Given the description of an element on the screen output the (x, y) to click on. 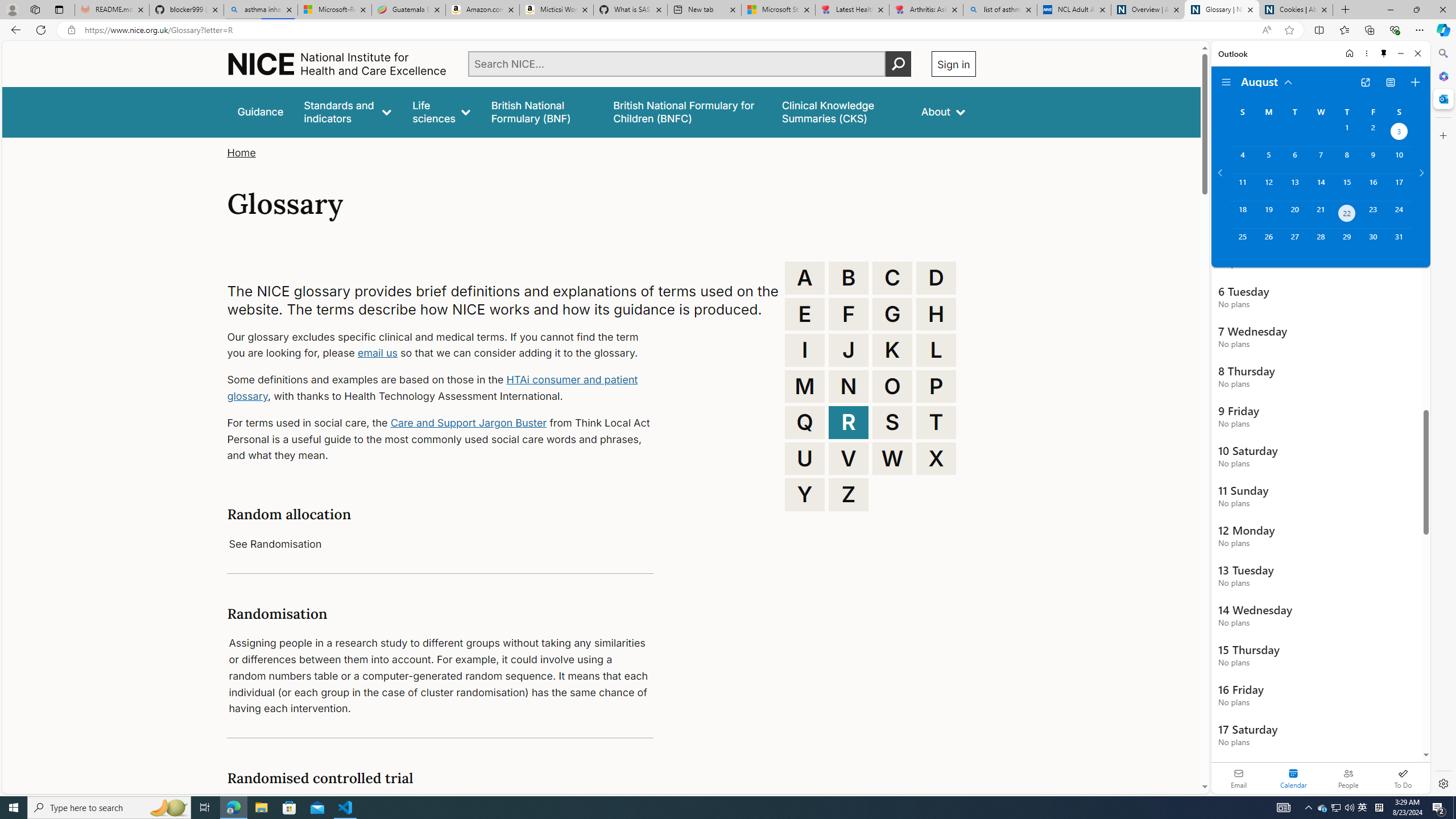
Guidance (260, 111)
I (804, 350)
Y (804, 494)
O (892, 385)
Friday, August 23, 2024.  (1372, 214)
Sunday, August 18, 2024.  (1242, 214)
list of asthma inhalers uk - Search (1000, 9)
NCL Adult Asthma Inhaler Choice Guideline (1073, 9)
I (804, 350)
Friday, August 2, 2024.  (1372, 132)
About (942, 111)
